Given the description of an element on the screen output the (x, y) to click on. 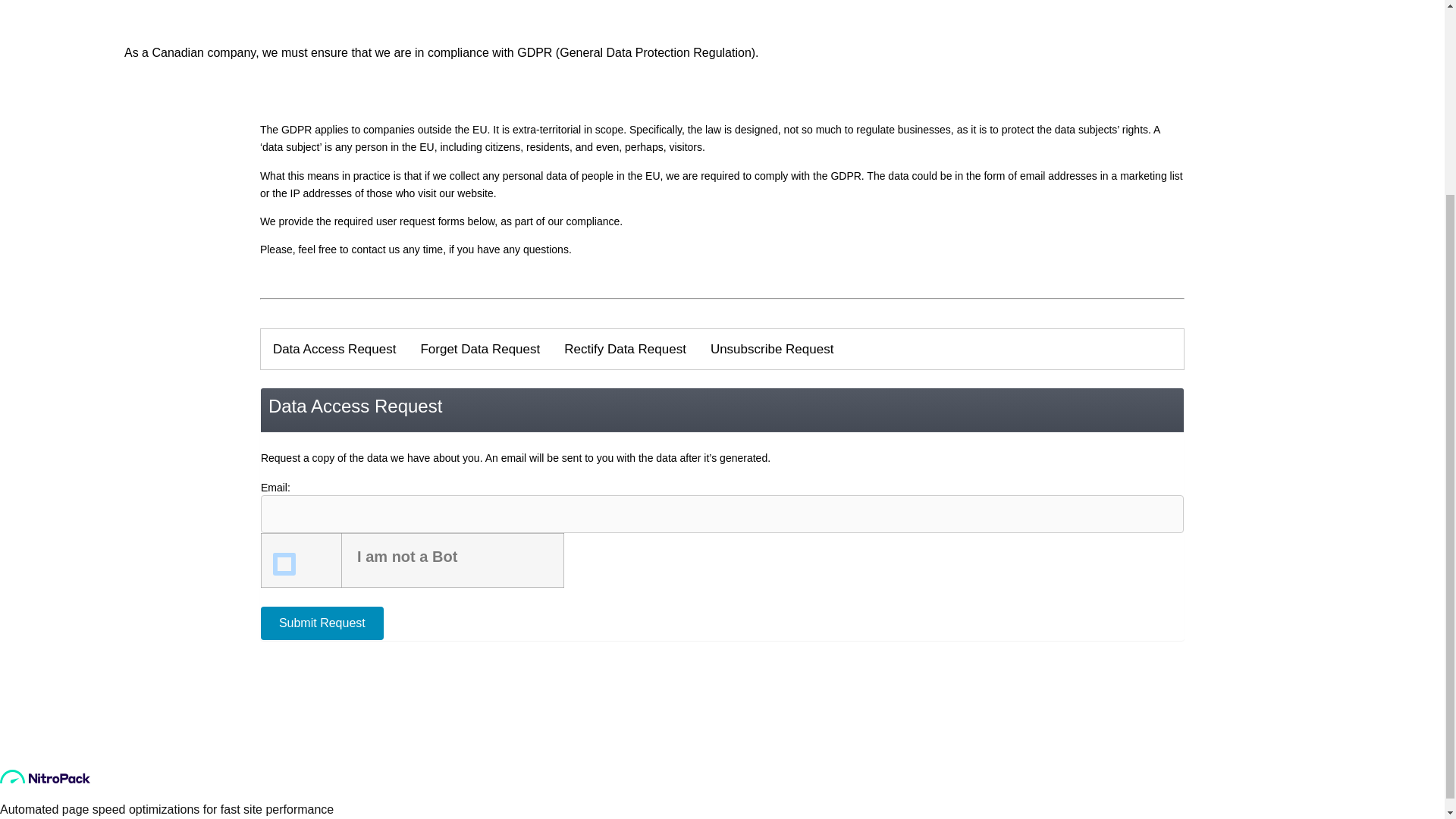
Rectify Data Request (624, 349)
Submit Request (322, 622)
Data Access Request (334, 349)
Unsubscribe Request (771, 349)
Forget Data Request (479, 349)
